Given the description of an element on the screen output the (x, y) to click on. 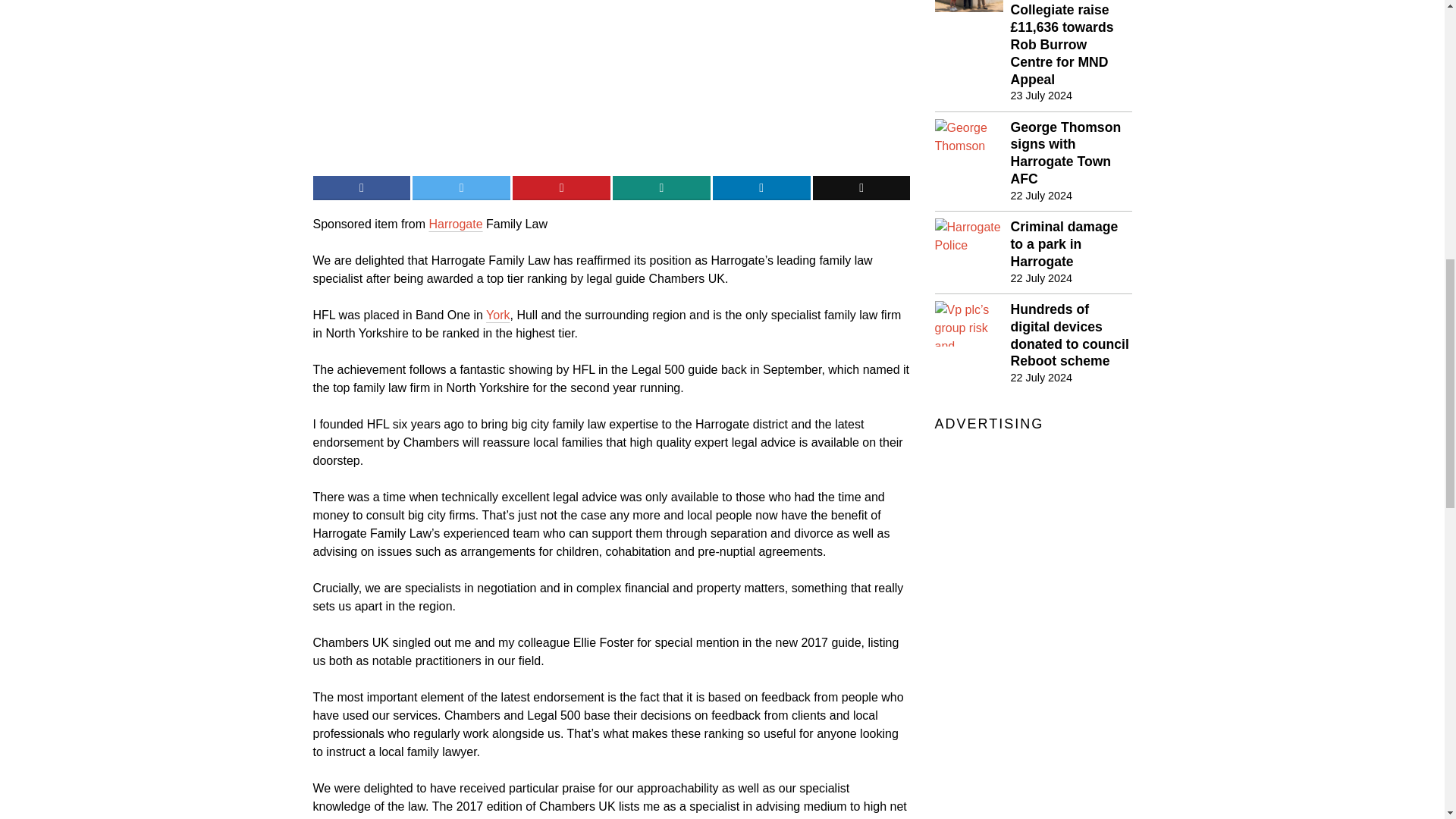
23 Jul, 2024 09:04:39 (1040, 95)
Criminal damage to a park in Harrogate (1070, 244)
Hundreds of digital devices donated to council Reboot scheme (1070, 335)
22 Jul, 2024 17:29:17 (1396, 22)
Harrogate (1040, 377)
22 Jul, 2024 19:04:03 (454, 223)
York (1040, 195)
George Thomson signs with Harrogate Town AFC (497, 314)
Harrogate (1070, 153)
York (454, 223)
22 Jul, 2024 18:38:10 (497, 314)
